Given the description of an element on the screen output the (x, y) to click on. 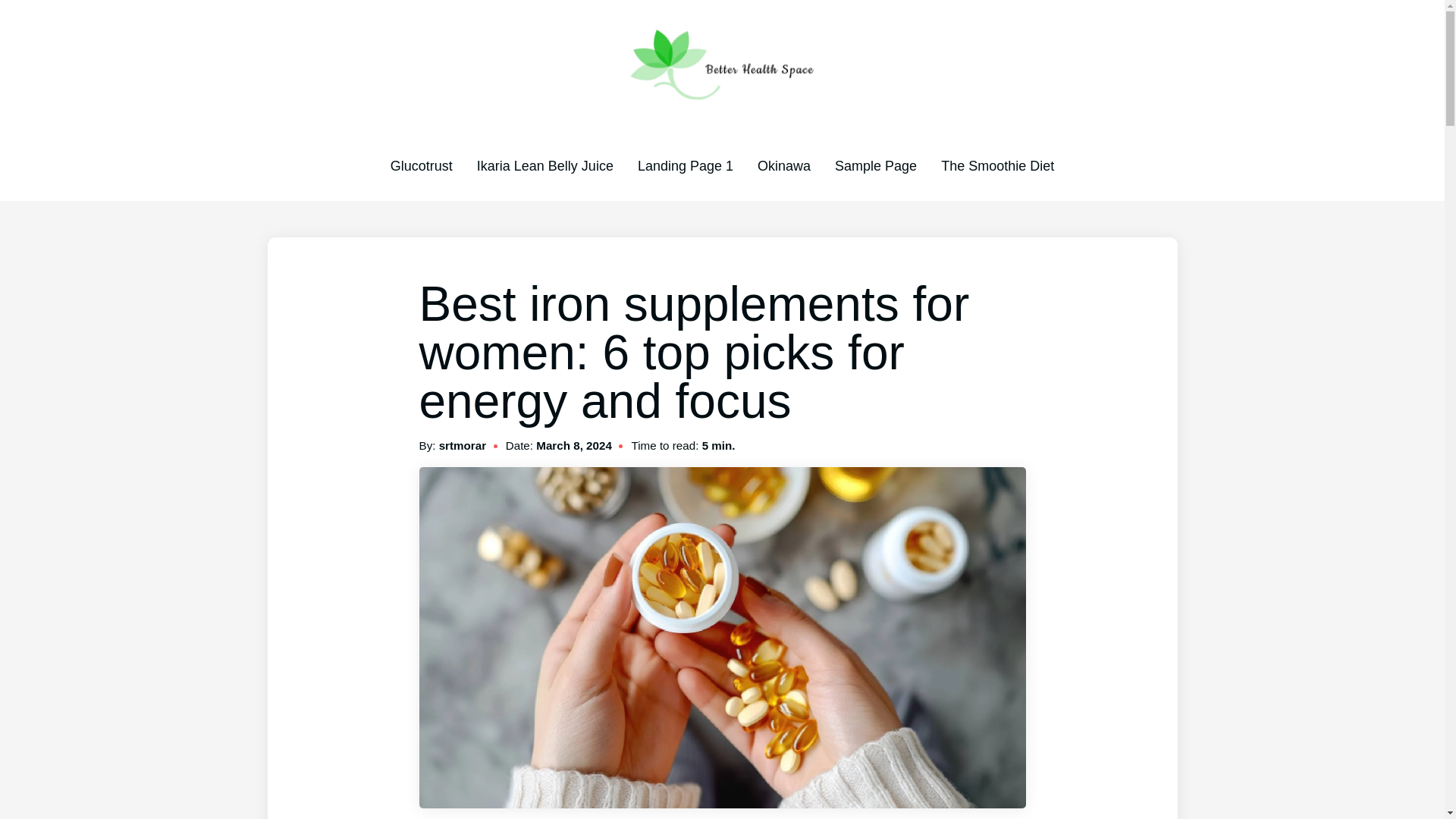
Glucotrust (421, 165)
Landing Page 1 (685, 165)
The Smoothie Diet (997, 165)
Ikaria Lean Belly Juice (544, 165)
Sample Page (875, 165)
Okinawa (783, 165)
